Given the description of an element on the screen output the (x, y) to click on. 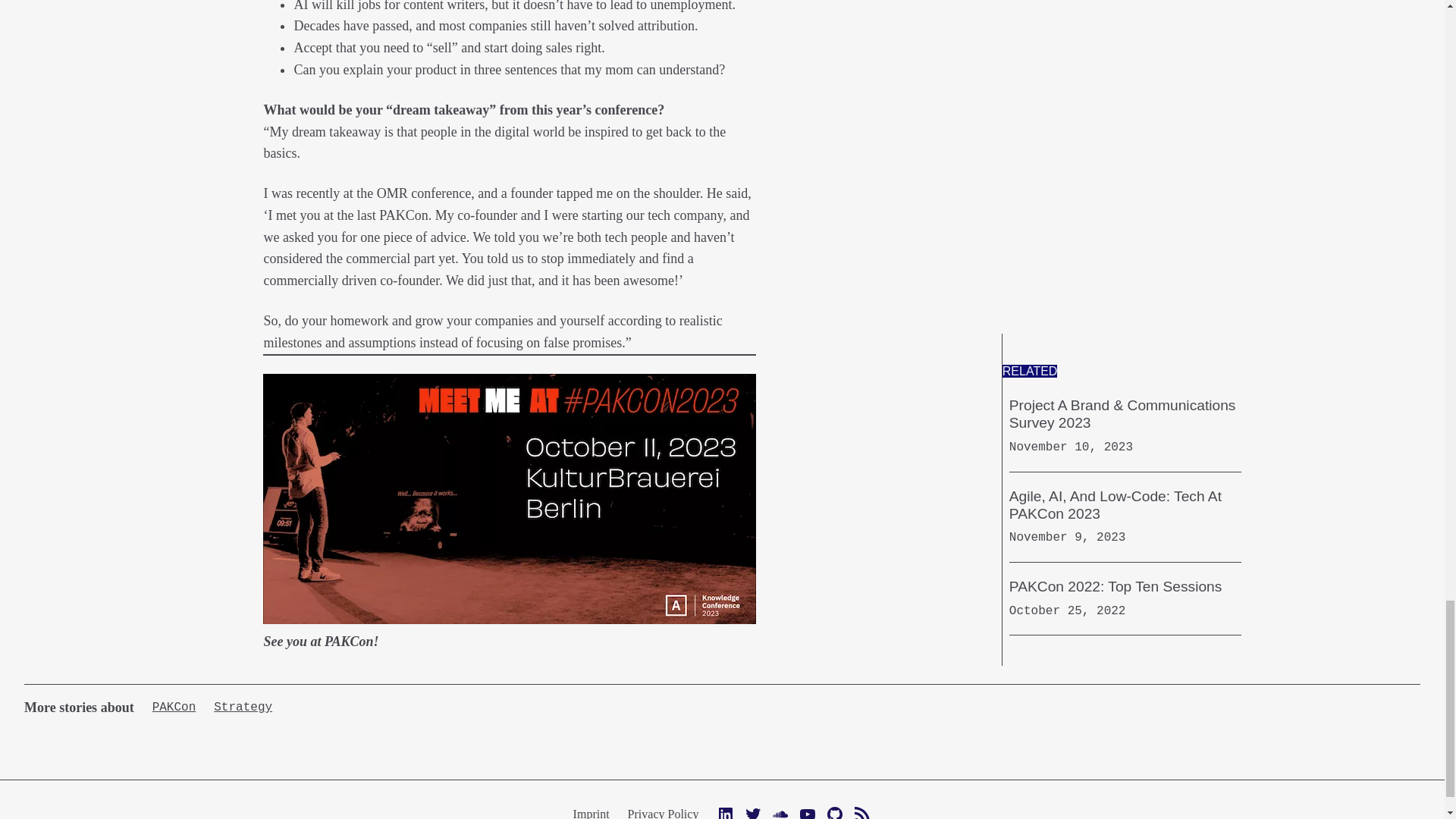
LinkedIn (725, 812)
YouTube (806, 812)
Privacy Policy (662, 813)
PAKCon 2022: Top Ten Sessions (1116, 586)
Soundcloud (780, 812)
Imprint (591, 813)
RSS Feed (861, 812)
PAKCon (174, 707)
Agile, AI, And Low-Code: Tech At PAKCon 2023 (1125, 504)
Twitter (752, 812)
GitHub (834, 812)
Strategy (243, 707)
